Given the description of an element on the screen output the (x, y) to click on. 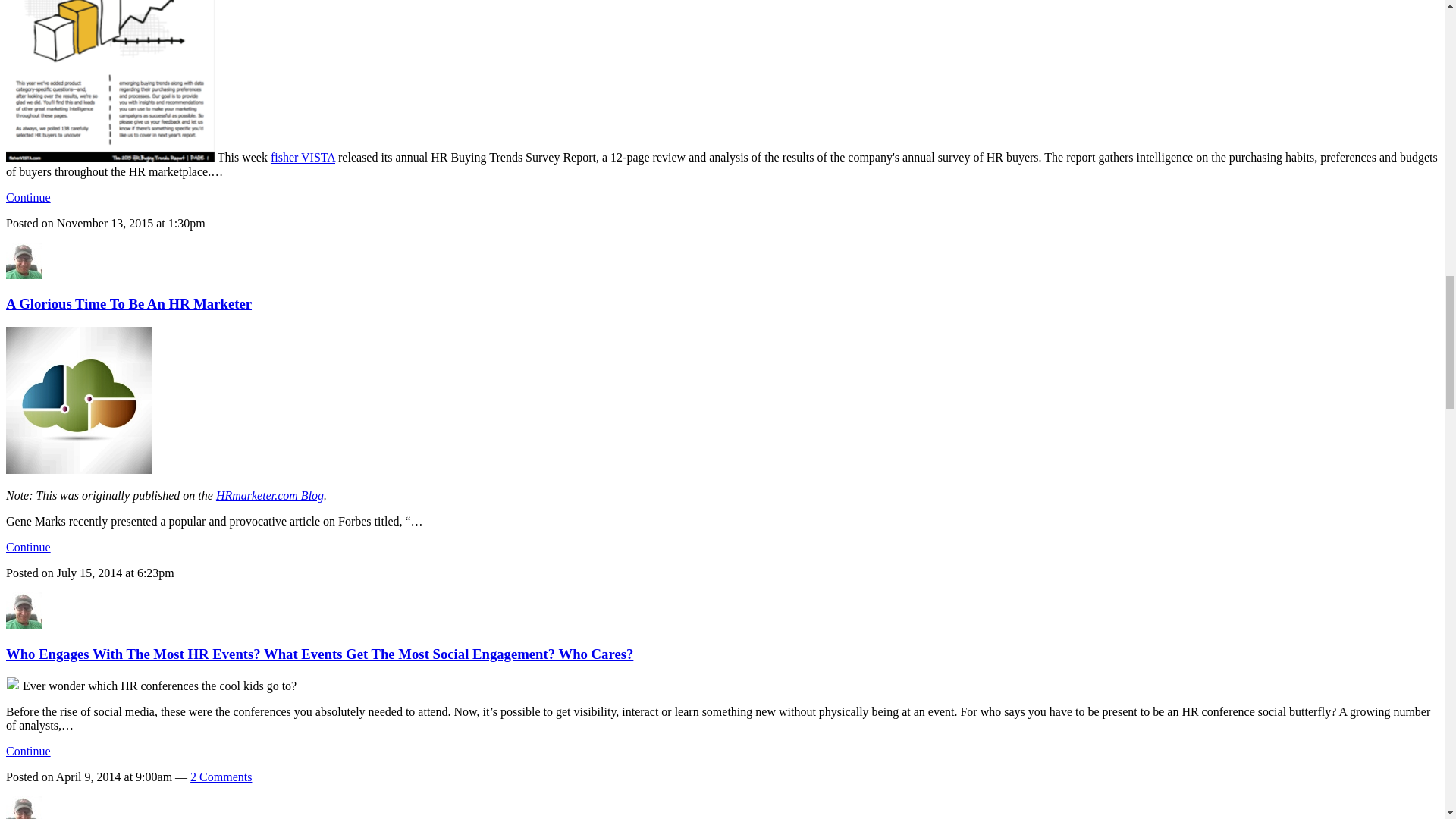
fisher VISTA (302, 157)
Mark Willaman (23, 274)
Mark Willaman (23, 624)
